Given the description of an element on the screen output the (x, y) to click on. 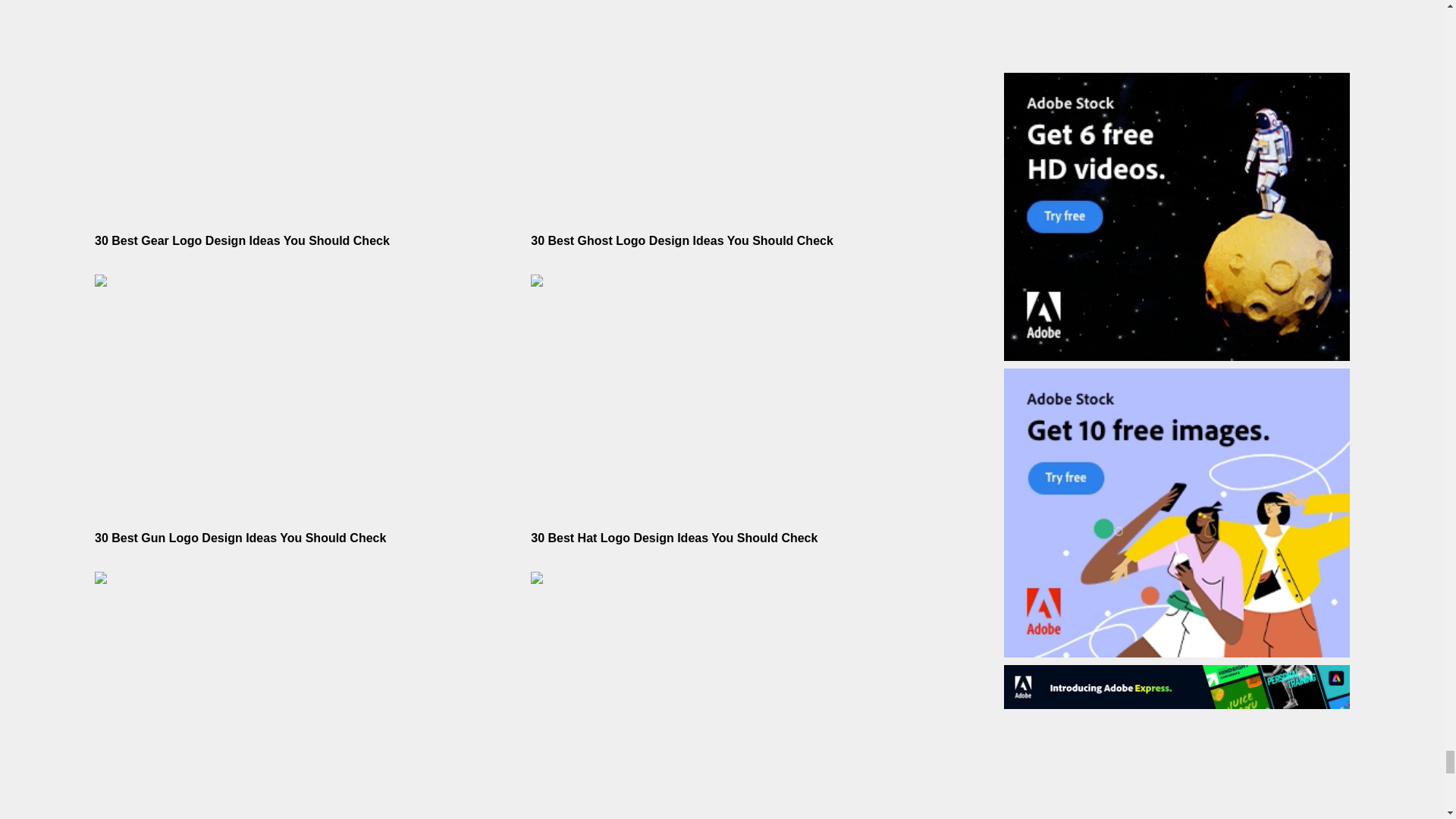
30 Best Ghost Logo Design Ideas You Should Check (681, 240)
30 Best Hat Logo Design Ideas You Should Check (673, 537)
30 Best Gear Logo Design Ideas You Should Check (242, 240)
30 Best Gun Logo Design Ideas You Should Check (239, 537)
